Given the description of an element on the screen output the (x, y) to click on. 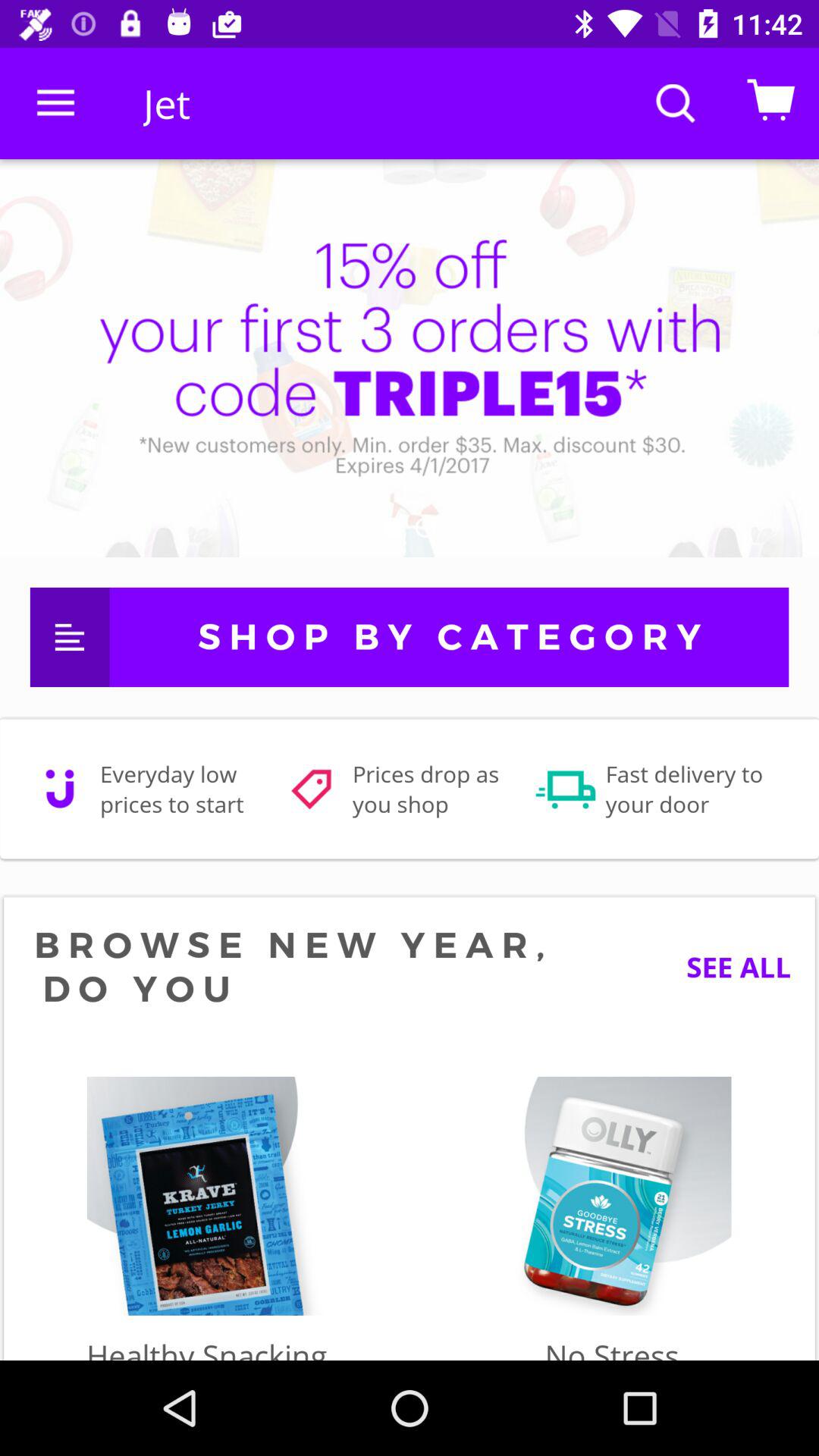
jump to the see all icon (727, 966)
